Given the description of an element on the screen output the (x, y) to click on. 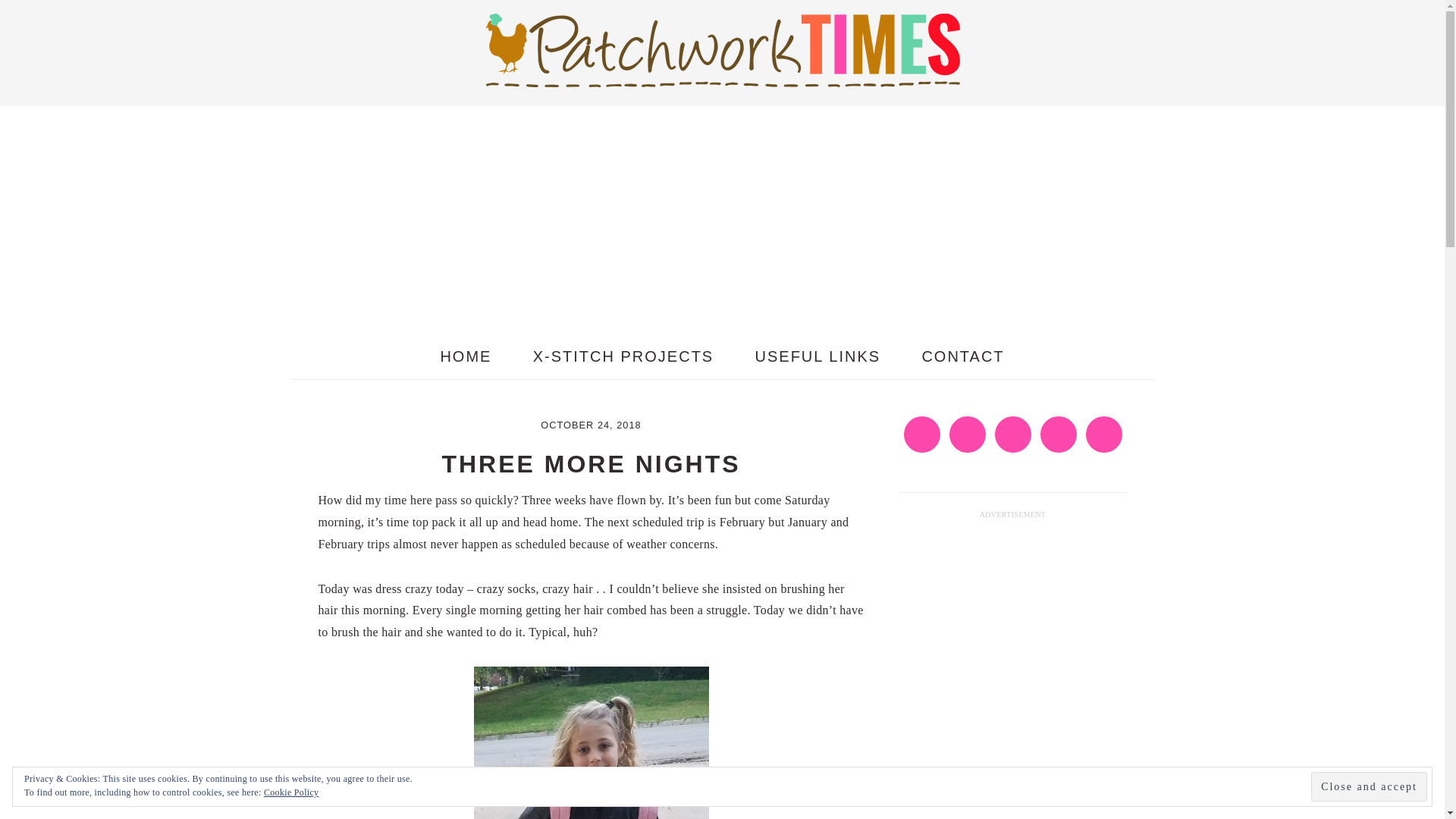
HOME (465, 356)
Patchwork Times by Judy Laquidara (721, 74)
Patchwork Times by Judy Laquidara (721, 48)
USEFUL LINKS (817, 356)
Close and accept (1368, 786)
X-STITCH PROJECTS (622, 356)
CONTACT (962, 356)
